Given the description of an element on the screen output the (x, y) to click on. 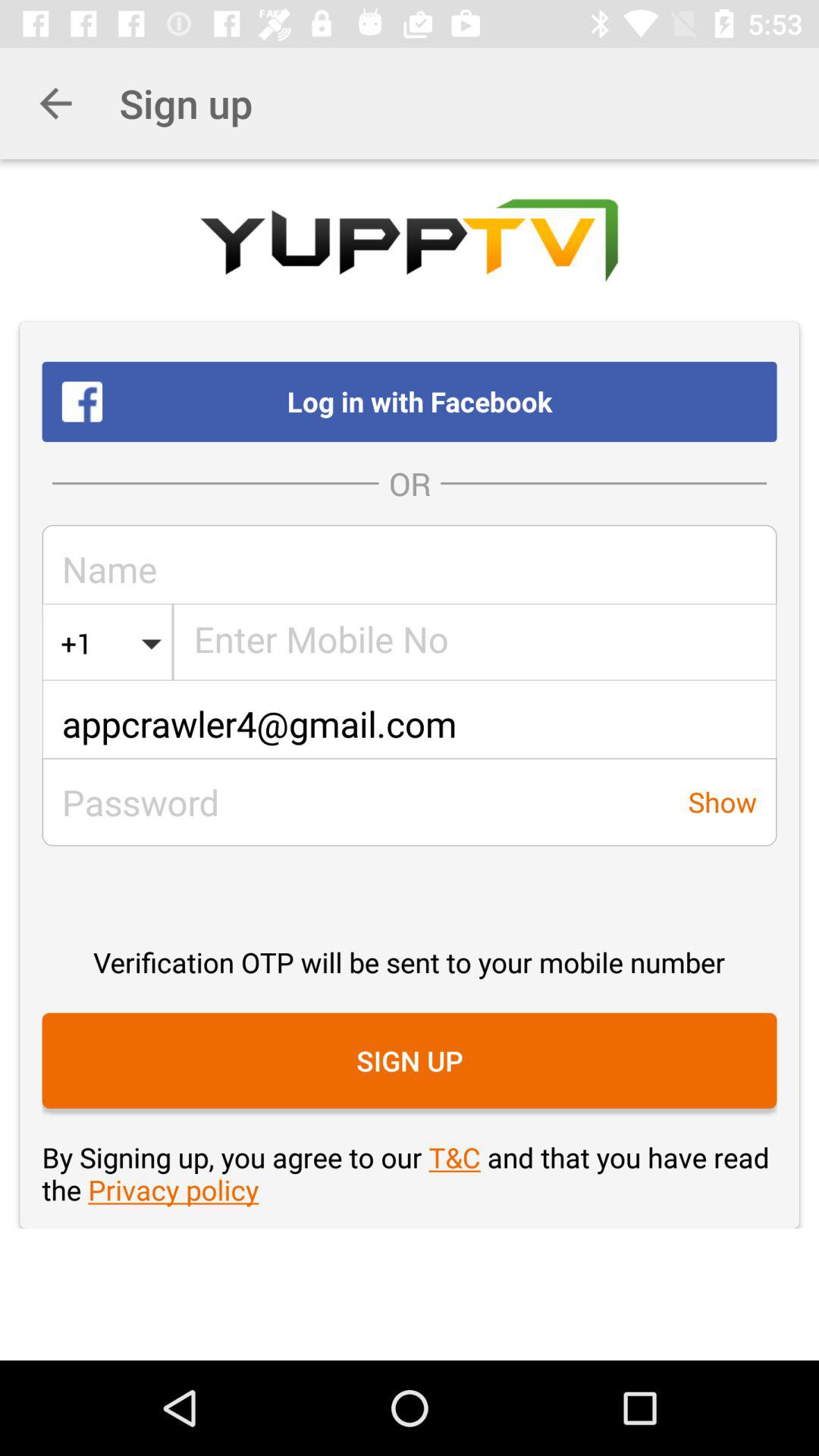
click icon to the left of sign up icon (55, 103)
